Given the description of an element on the screen output the (x, y) to click on. 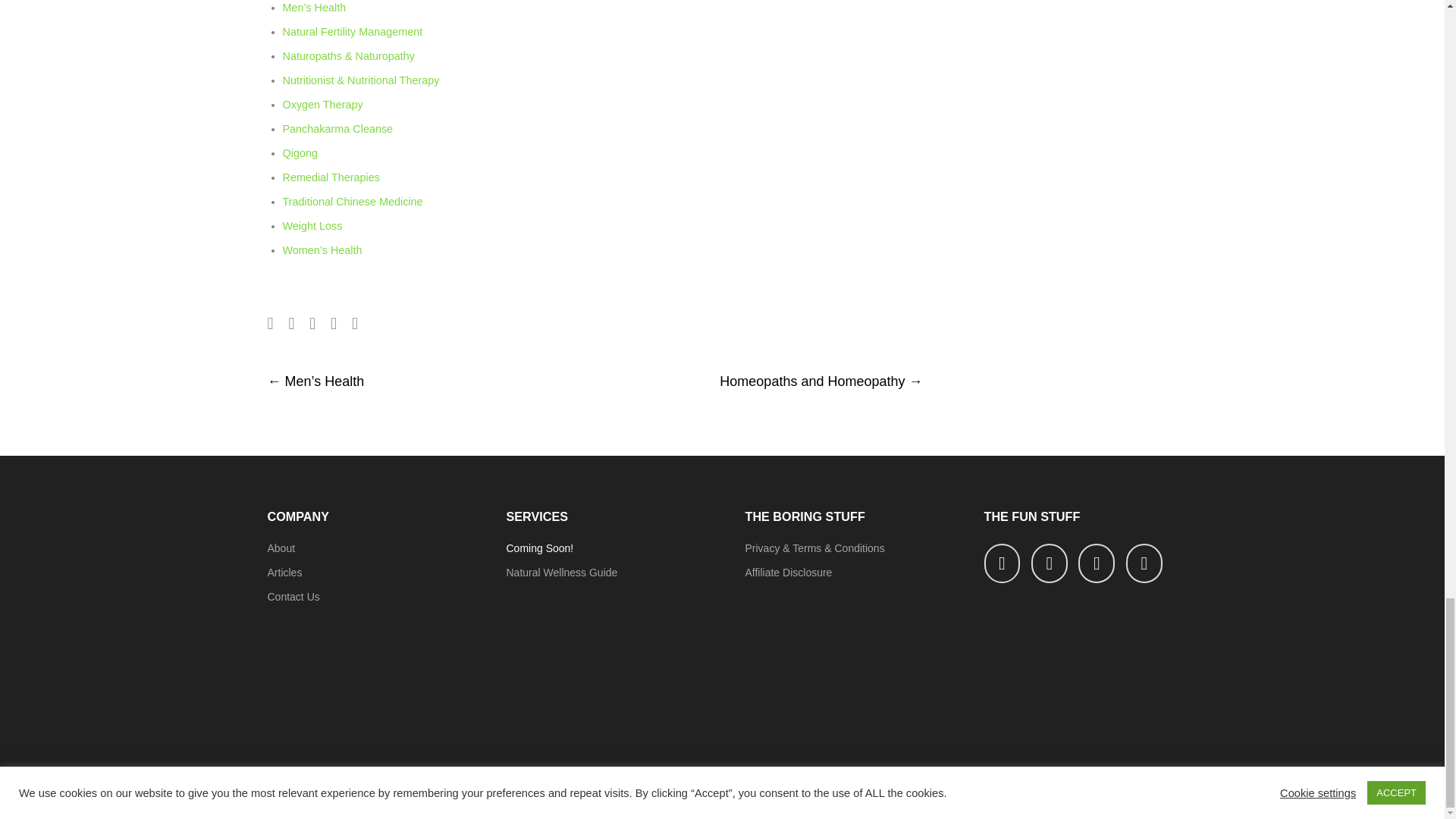
Diet Zest on Instagram (1048, 563)
Diet Zest on Pinterest (1096, 563)
Diet Zest on X Twitter (1002, 563)
Diet Zest on Youtube (1143, 563)
